Given the description of an element on the screen output the (x, y) to click on. 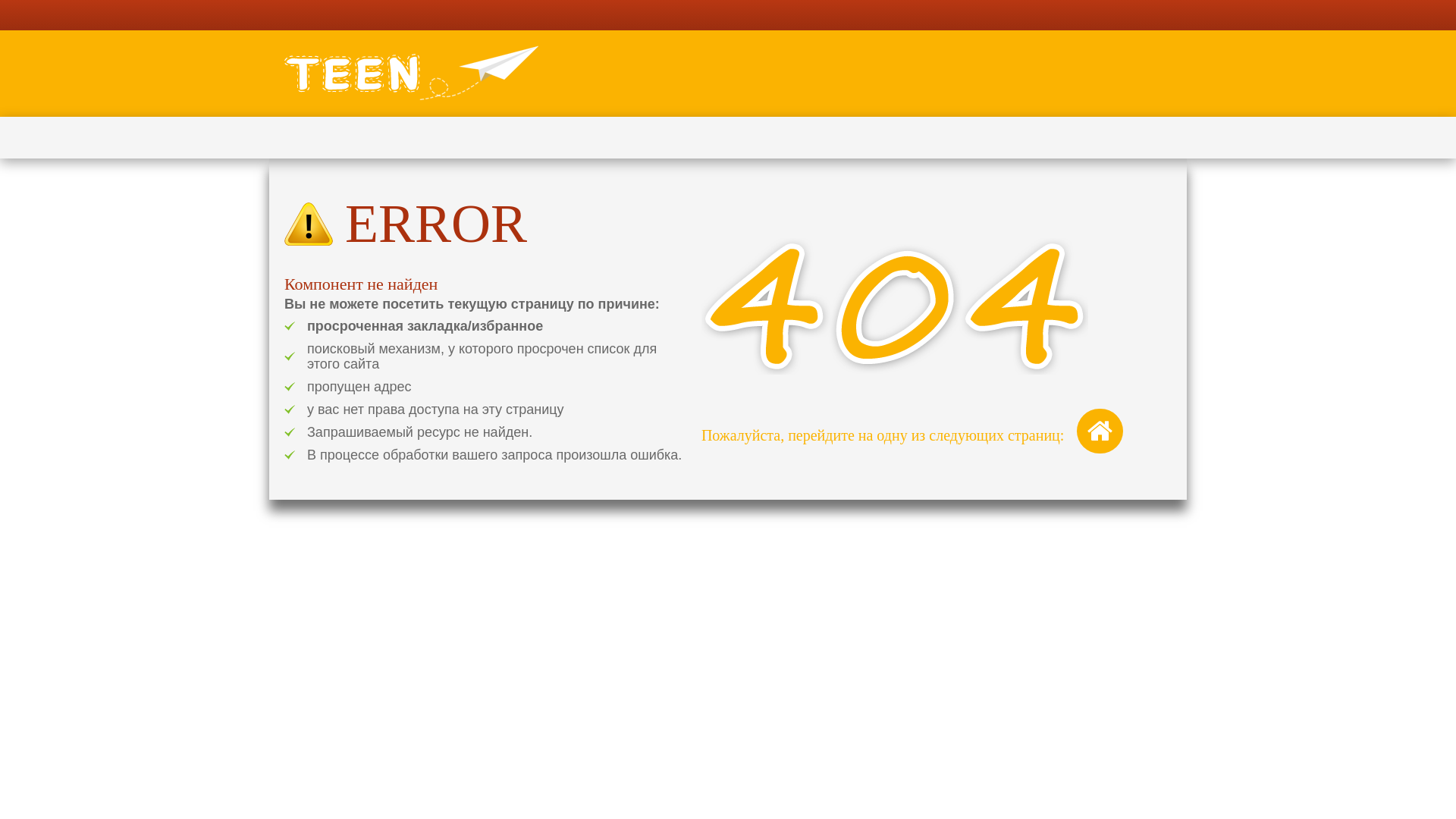
  Element type: text (411, 73)
